Given the description of an element on the screen output the (x, y) to click on. 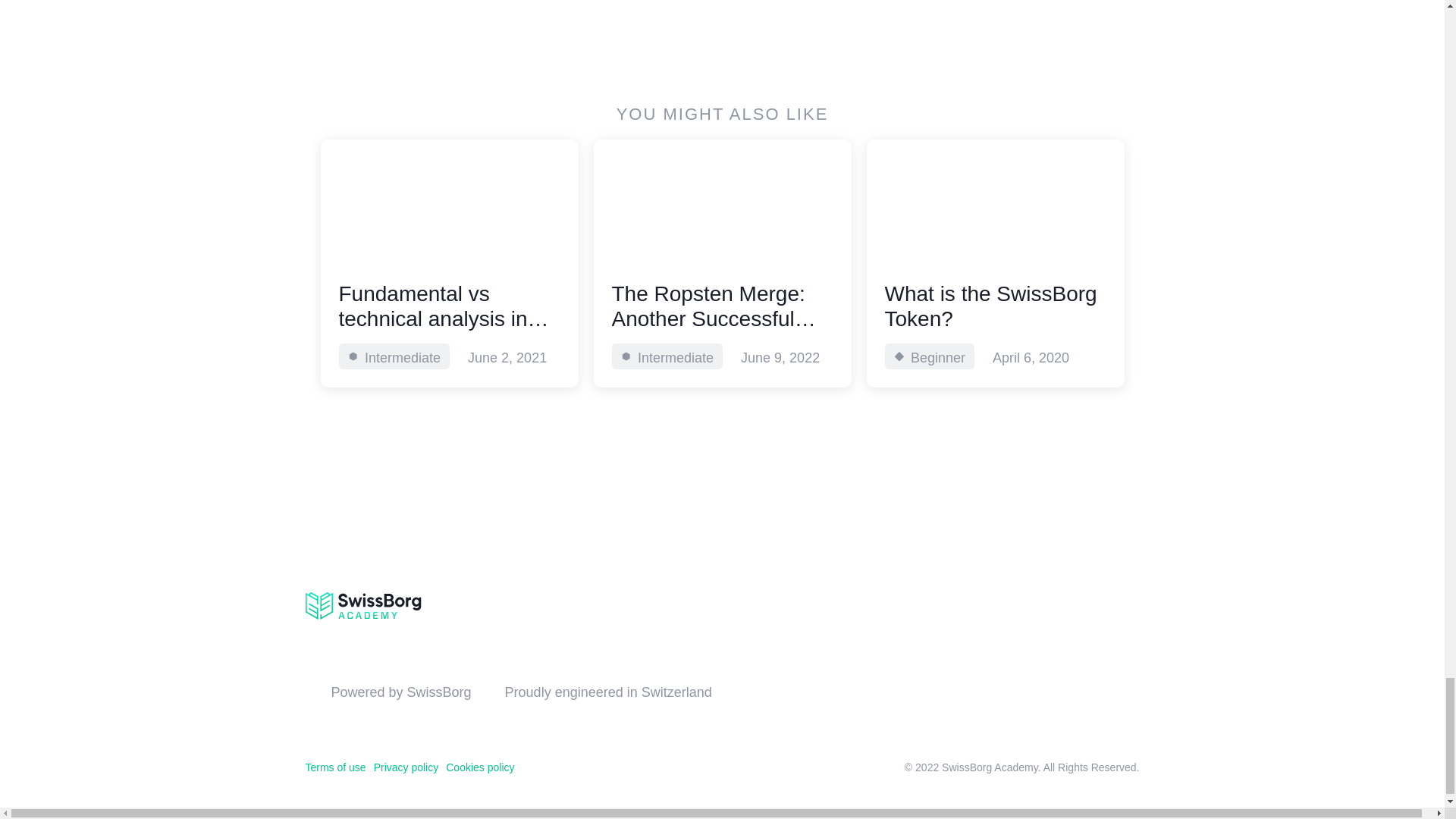
Powered by SwissBorg (400, 692)
Terms of use (334, 767)
Privacy policy (995, 263)
Cookies policy (406, 767)
